Given the description of an element on the screen output the (x, y) to click on. 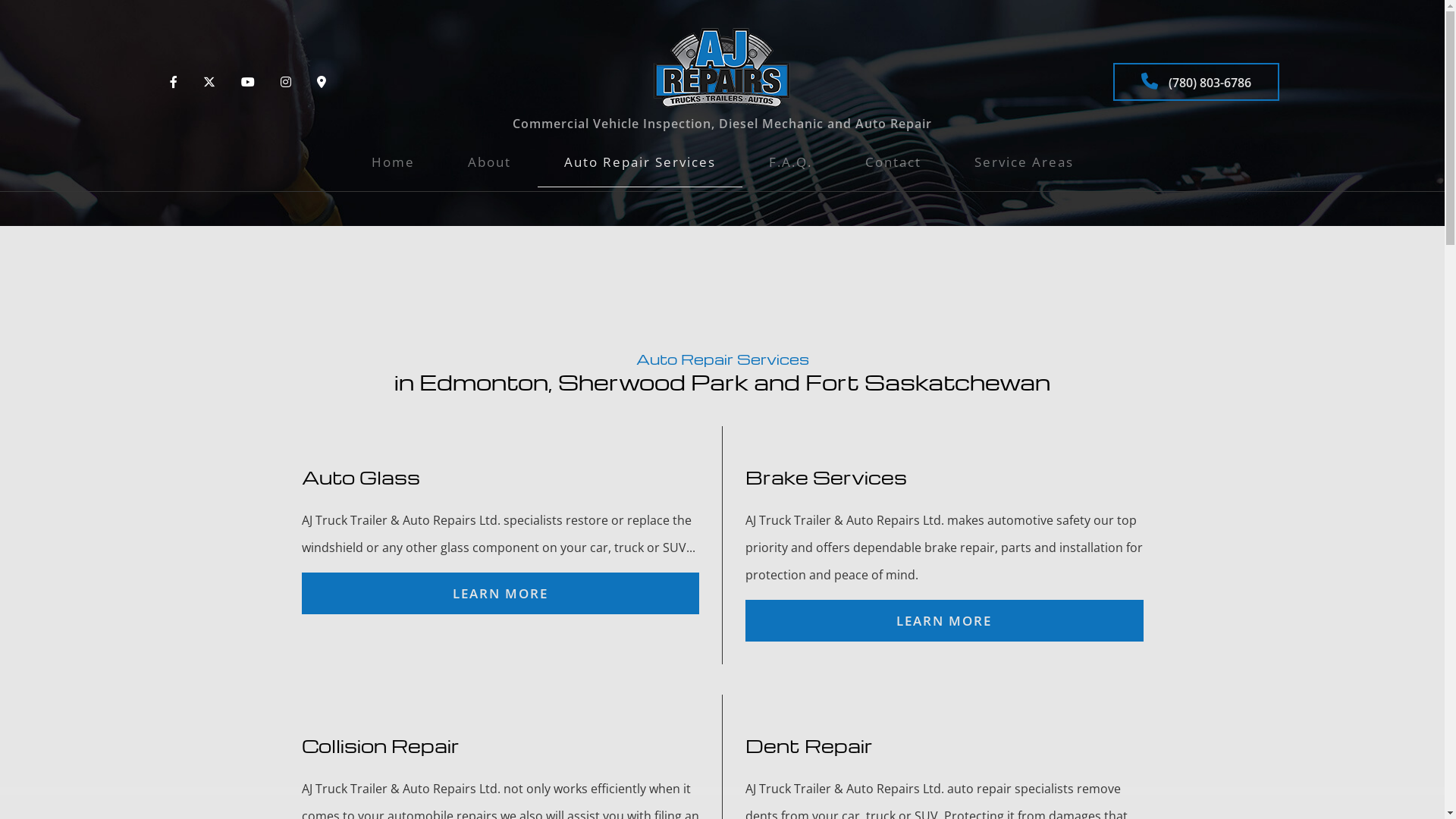
Diesel Truck Repair Element type: text (638, 357)
Exhaust Repair Element type: text (638, 388)
Auto Glass Element type: text (638, 202)
Tire Rotation and Alignment Element type: text (638, 513)
LEARN MORE Element type: text (500, 593)
Smog/DPF Test Element type: text (638, 482)
Connect to Facebook Element type: hover (173, 81)
Connect to Instagram Element type: hover (285, 81)
Auto Repair Services Element type: text (638, 162)
Tire Services Element type: text (638, 544)
Dent Repair Element type: text (638, 295)
F.A.Q. Element type: text (789, 162)
Contact Element type: text (892, 162)
Diesel Engine Diagnostics Element type: text (638, 326)
View Google Maps Element type: hover (321, 81)
(780) 803-6786 Element type: text (1196, 81)
Service Areas Element type: text (1023, 162)
Radiator Repair and Inspection Element type: text (638, 451)
Connect to YouTube Element type: hover (247, 81)
Collision Repair Element type: text (638, 264)
About Element type: text (489, 162)
LEARN MORE Element type: text (943, 620)
Brake Services Element type: text (638, 233)
Oil Change Element type: text (638, 420)
Transmission Repair Element type: text (638, 575)
Home Element type: text (392, 162)
Truck Maintenance and Inspection Element type: text (638, 606)
Connect to Twitter Element type: hover (208, 81)
